Given the description of an element on the screen output the (x, y) to click on. 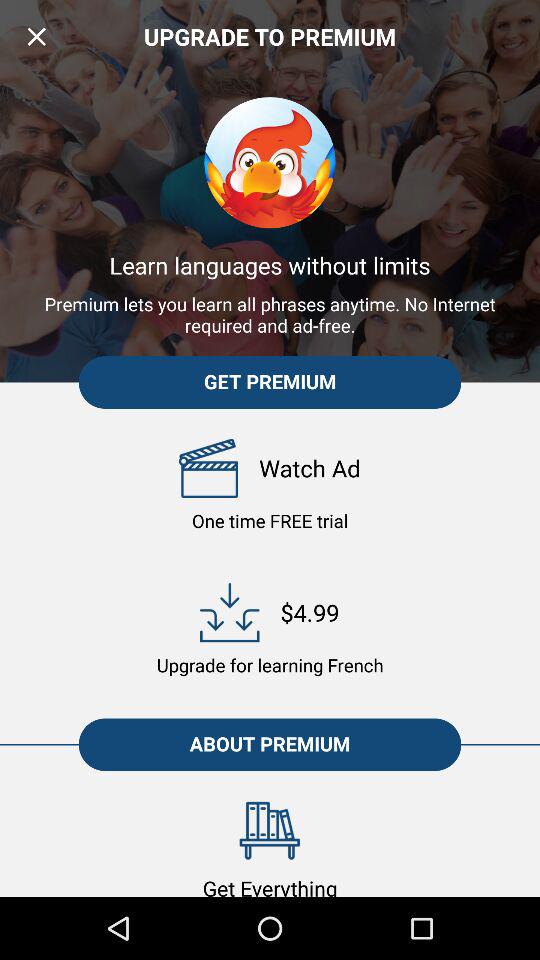
select item above the learn languages without icon (36, 36)
